Given the description of an element on the screen output the (x, y) to click on. 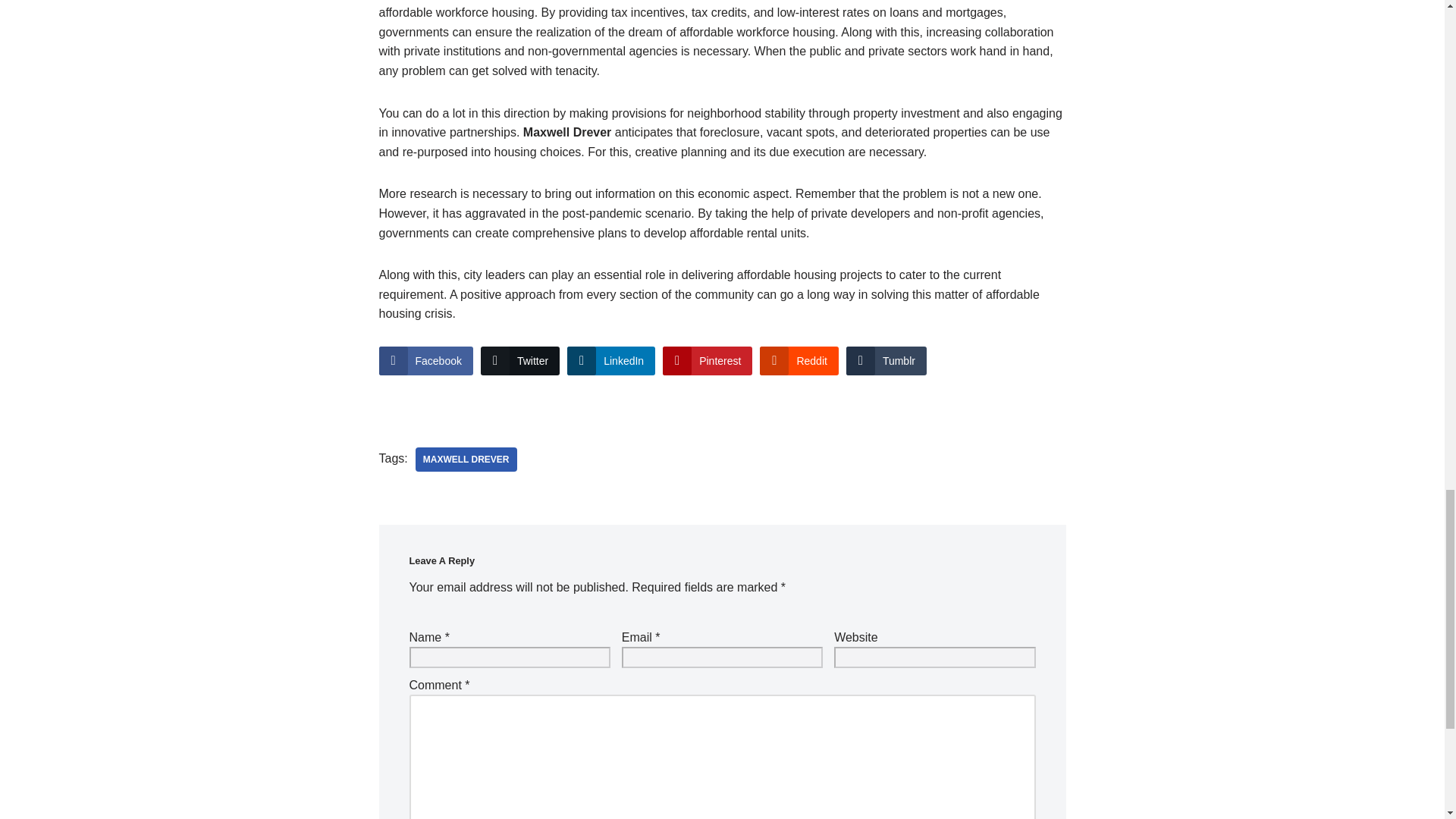
Tumblr (885, 360)
Reddit (799, 360)
Facebook (425, 360)
Pinterest (707, 360)
Maxwell Drever (465, 459)
LinkedIn (611, 360)
MAXWELL DREVER (465, 459)
Twitter (519, 360)
